Given the description of an element on the screen output the (x, y) to click on. 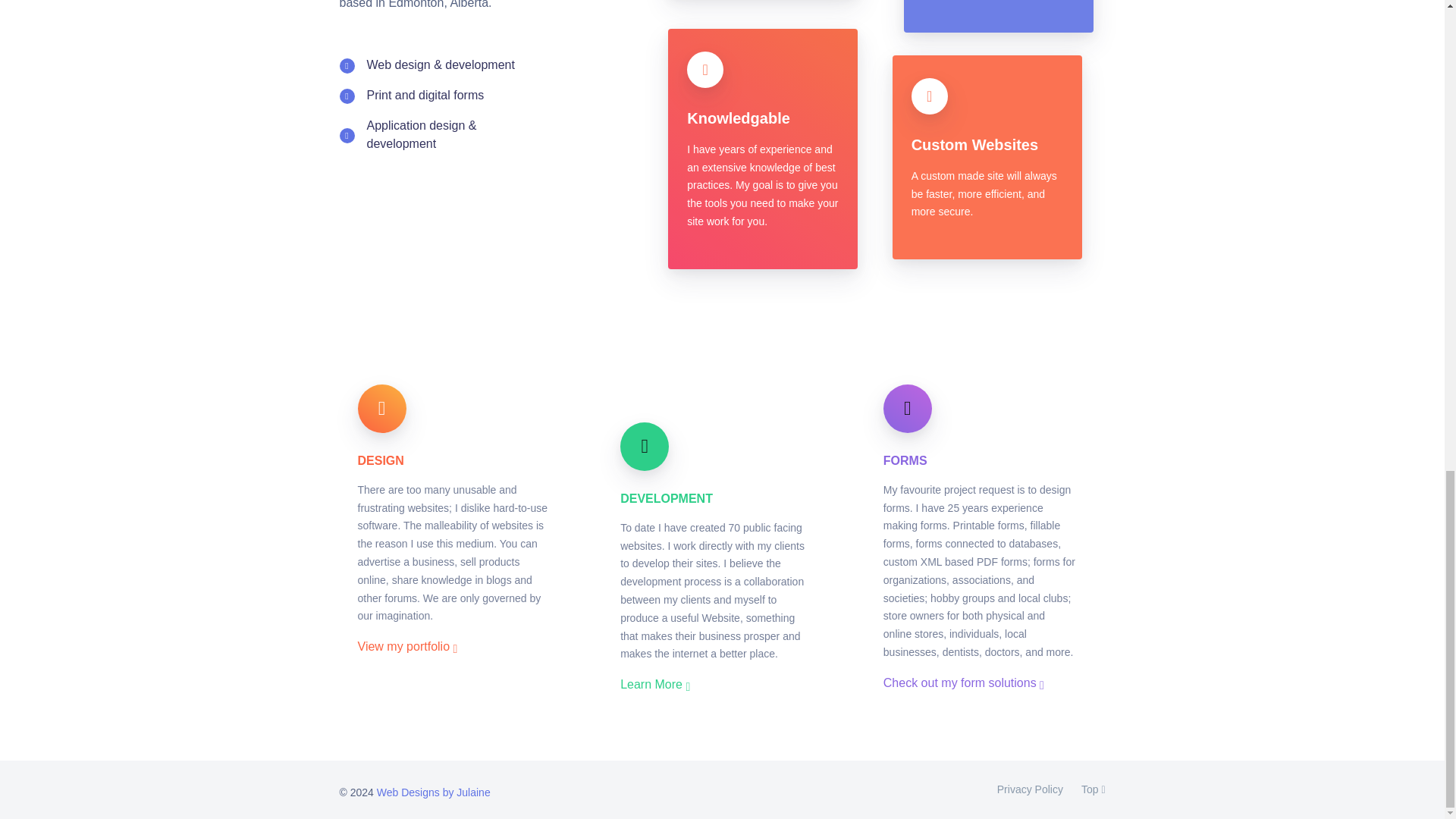
View my portfolio (408, 645)
Learn More (655, 684)
Web Designs by Julaine (433, 792)
Top (1088, 789)
Check out my form solutions (963, 682)
Privacy Policy (1029, 789)
